Given the description of an element on the screen output the (x, y) to click on. 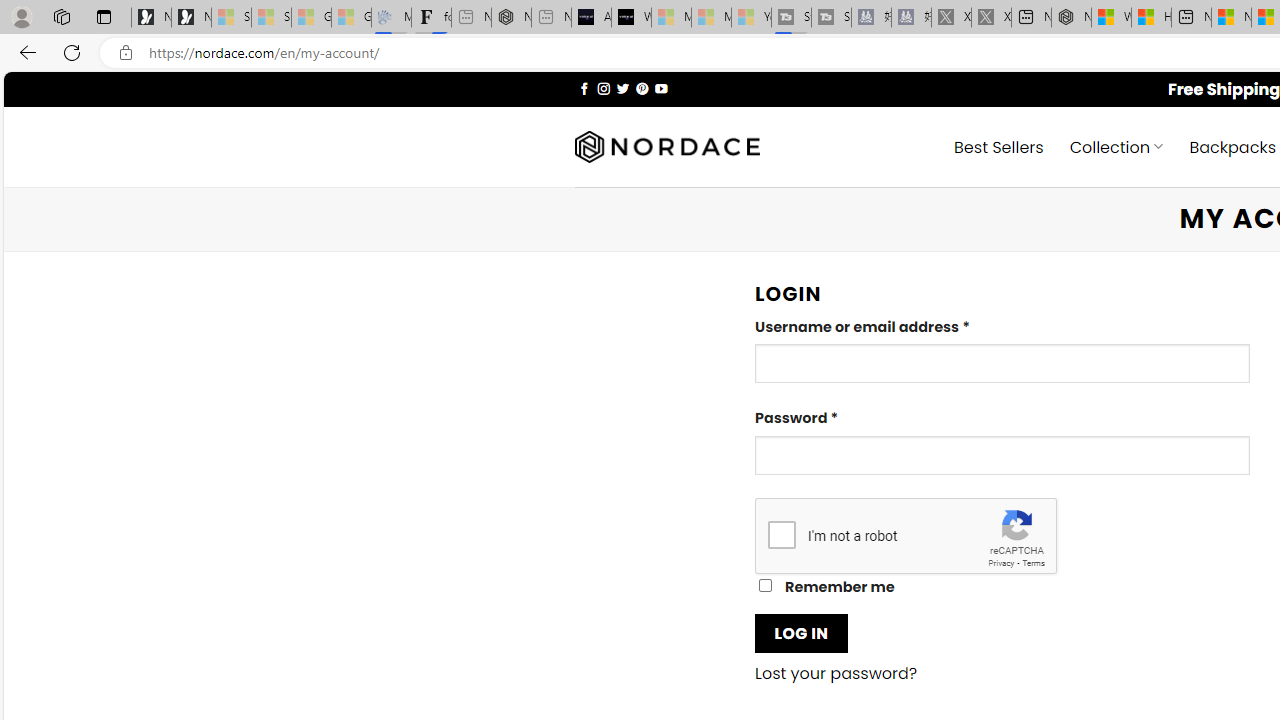
 Best Sellers (998, 146)
I'm not a robot (782, 533)
Remember me (765, 585)
Nordace - My Account (1071, 17)
